Given the description of an element on the screen output the (x, y) to click on. 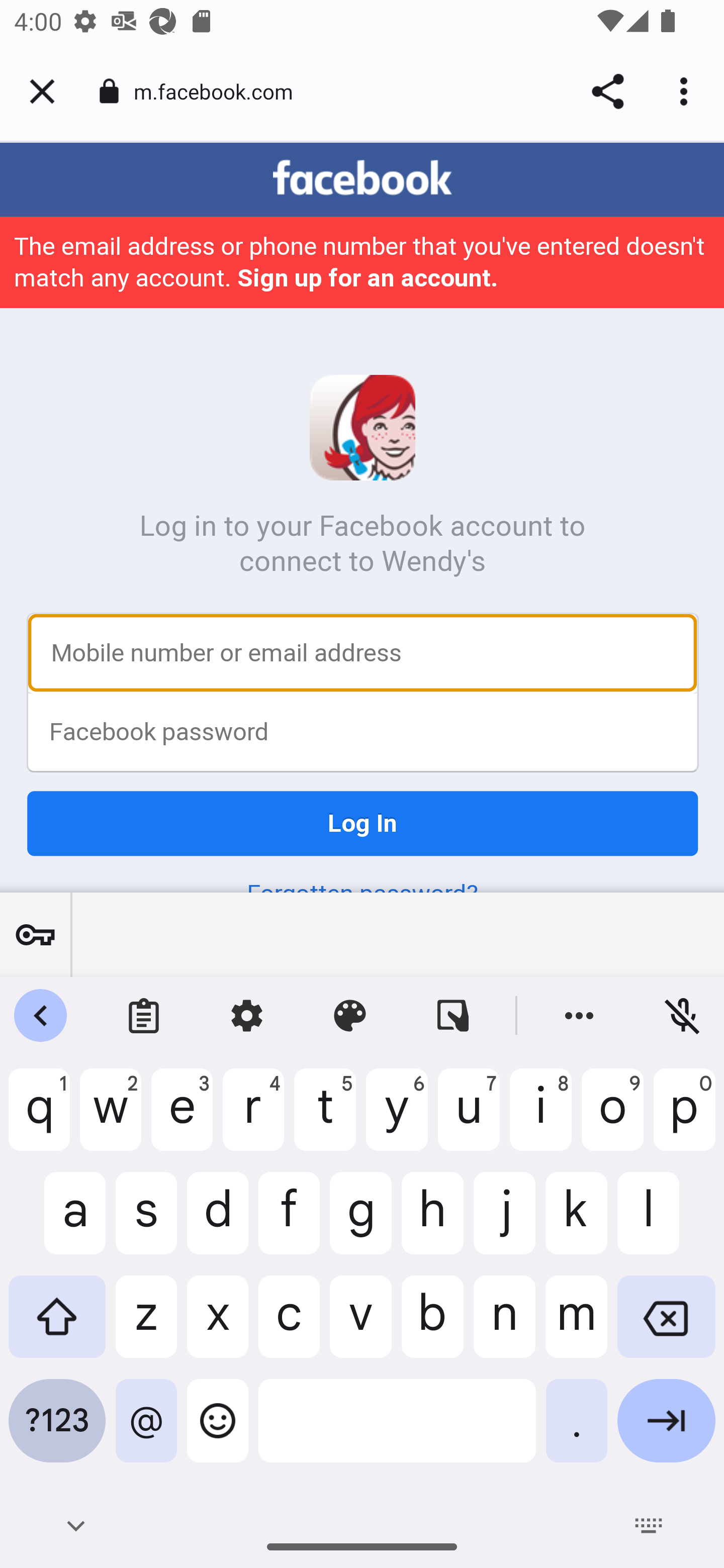
Close tab (42, 91)
Share (607, 91)
More options (687, 91)
Connection is secure (108, 91)
m.facebook.com (219, 90)
facebook (361, 179)
Sign up for an account. (367, 278)
Log In (363, 824)
Show passwords (35, 934)
